Given the description of an element on the screen output the (x, y) to click on. 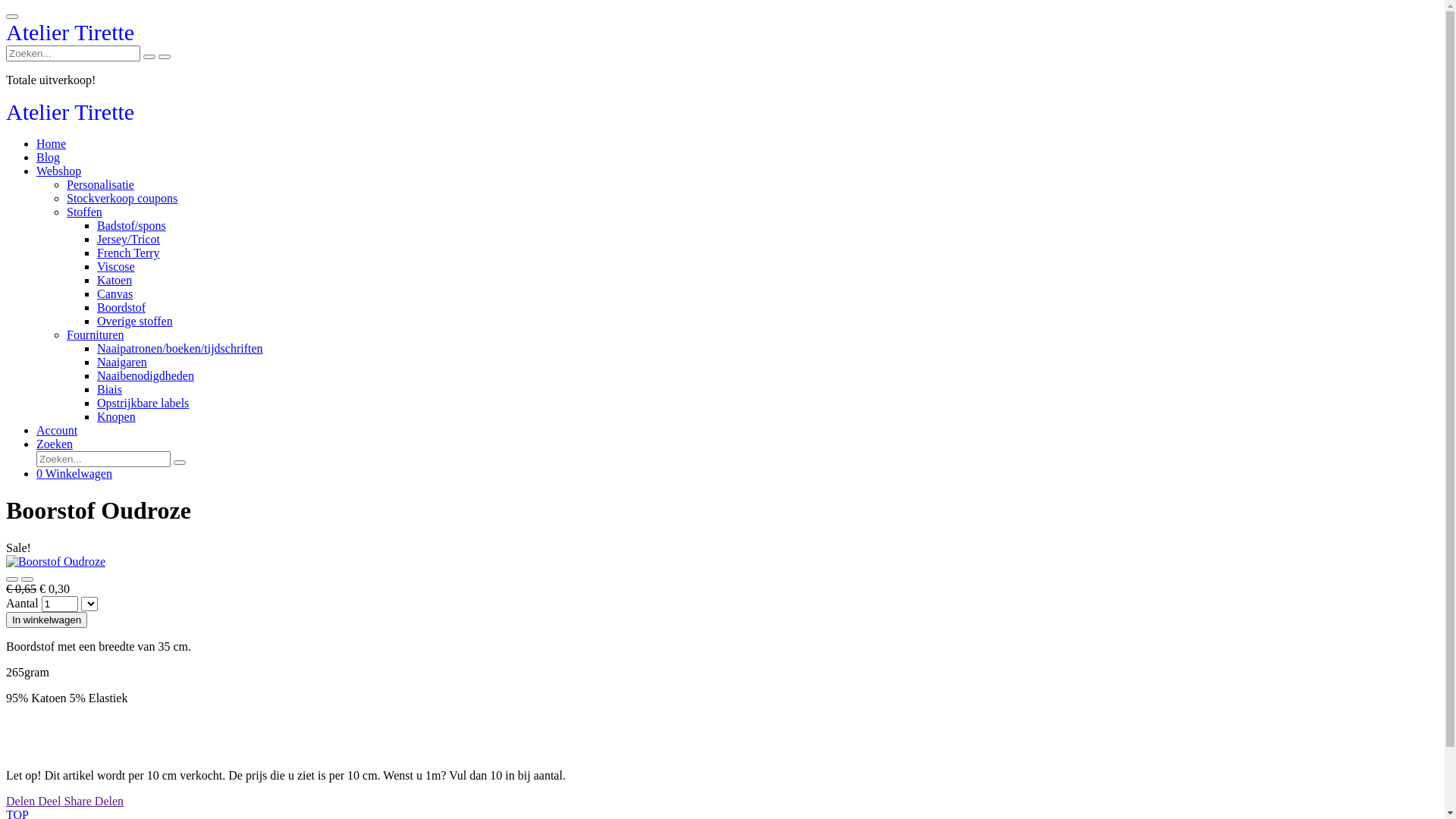
Viscose Element type: text (115, 266)
Atelier Tirette Element type: text (70, 35)
0 Winkelwagen Element type: text (74, 473)
Blog Element type: text (47, 156)
Stockverkoop coupons Element type: text (121, 197)
Knopen Element type: text (116, 416)
Opstrijkbare labels Element type: text (142, 402)
Webshop Element type: text (58, 170)
Boordstof Element type: text (121, 307)
Stoffen Element type: text (84, 211)
Naaipatronen/boeken/tijdschriften Element type: text (180, 348)
Share Element type: text (78, 800)
Delen Element type: text (21, 800)
Naaigaren Element type: text (122, 361)
Deel Element type: text (50, 800)
Katoen Element type: text (114, 279)
Zoeken Element type: text (54, 443)
In winkelwagen Element type: text (46, 619)
Canvas Element type: text (114, 293)
Delen Element type: text (108, 800)
Biais Element type: text (109, 388)
Badstof/spons Element type: text (131, 225)
Jersey/Tricot Element type: text (128, 238)
Overige stoffen Element type: text (134, 320)
French Terry Element type: text (128, 252)
Fournituren Element type: text (95, 334)
Personalisatie Element type: text (100, 184)
Home Element type: text (50, 143)
Atelier Tirette Element type: text (70, 115)
Account Element type: text (56, 429)
Naaibenodigdheden Element type: text (145, 375)
